Given the description of an element on the screen output the (x, y) to click on. 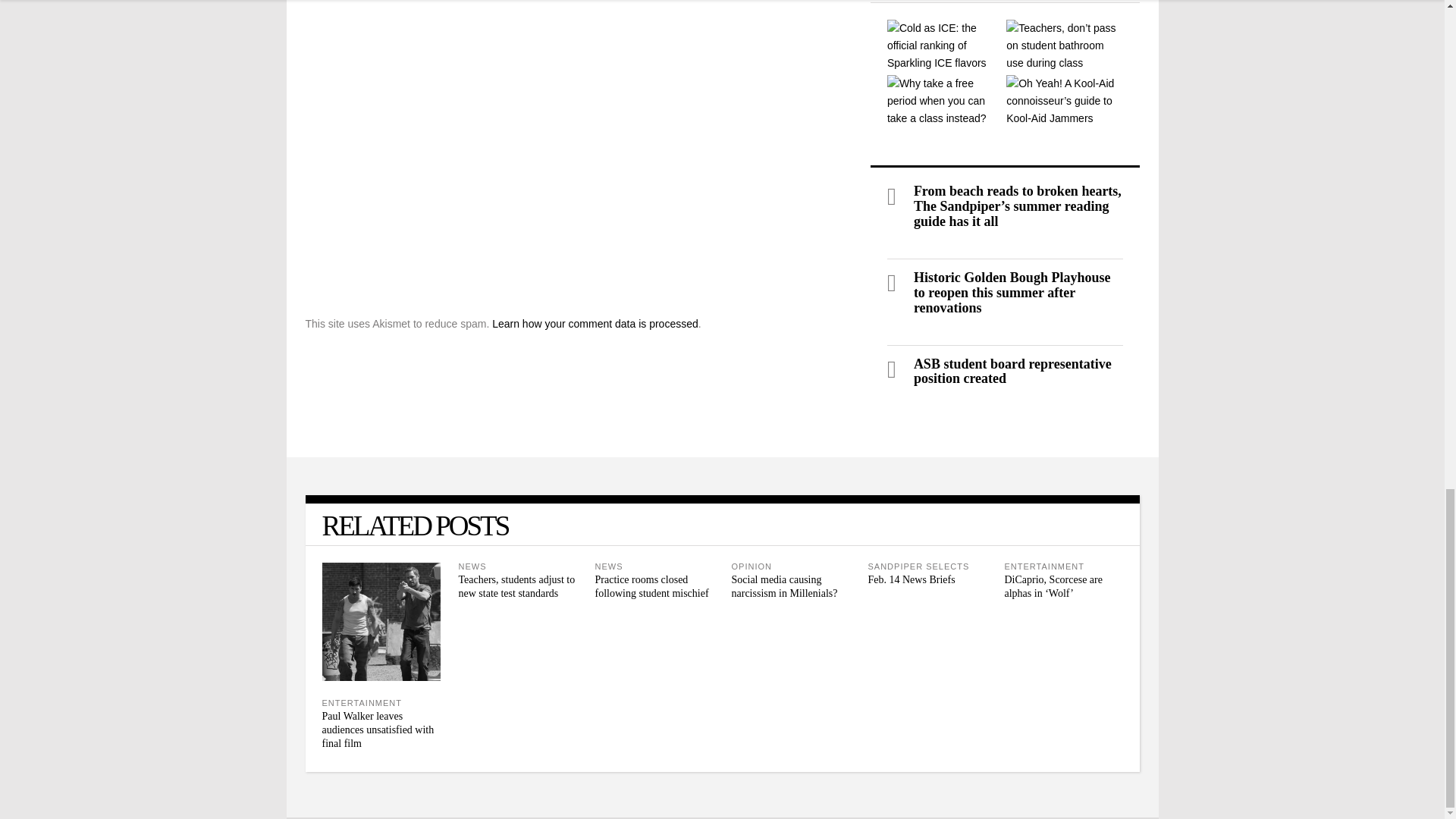
Why take a free period when you can take a class instead? (944, 101)
Cold as ICE: the official ranking of Sparkling ICE flavors (944, 45)
